Given the description of an element on the screen output the (x, y) to click on. 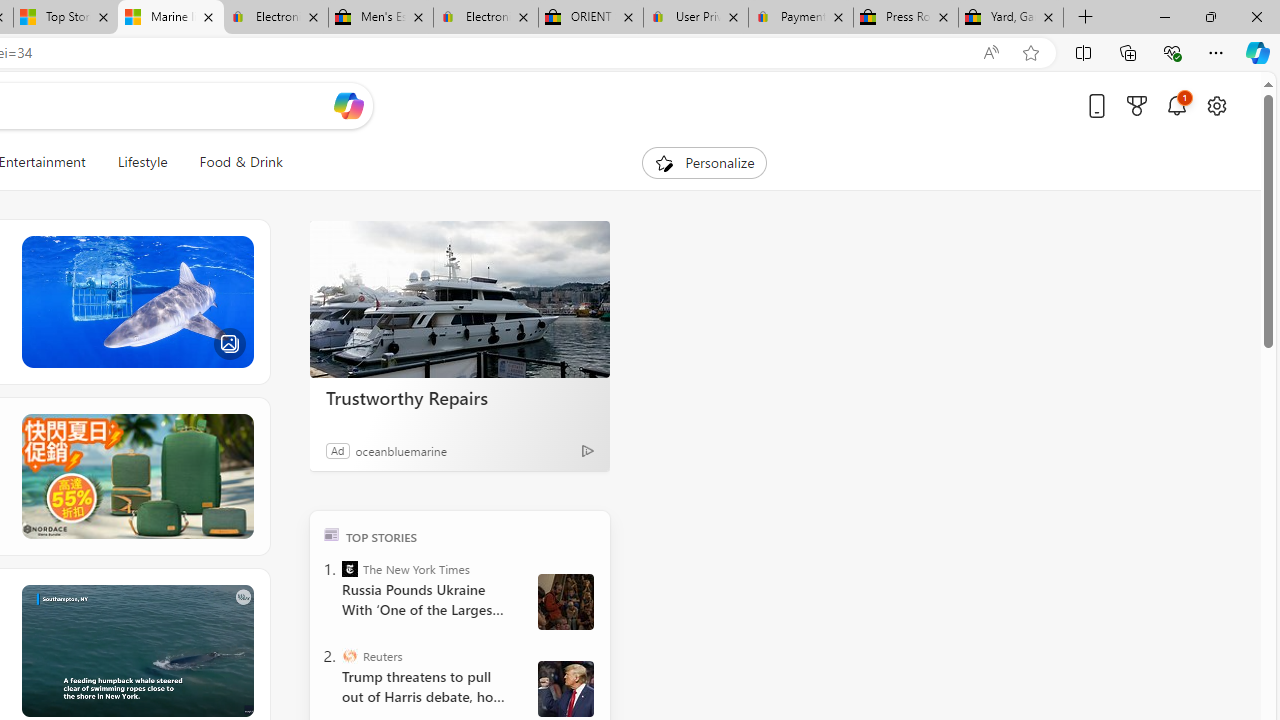
oceanbluemarine (400, 450)
TOP (331, 534)
